Given the description of an element on the screen output the (x, y) to click on. 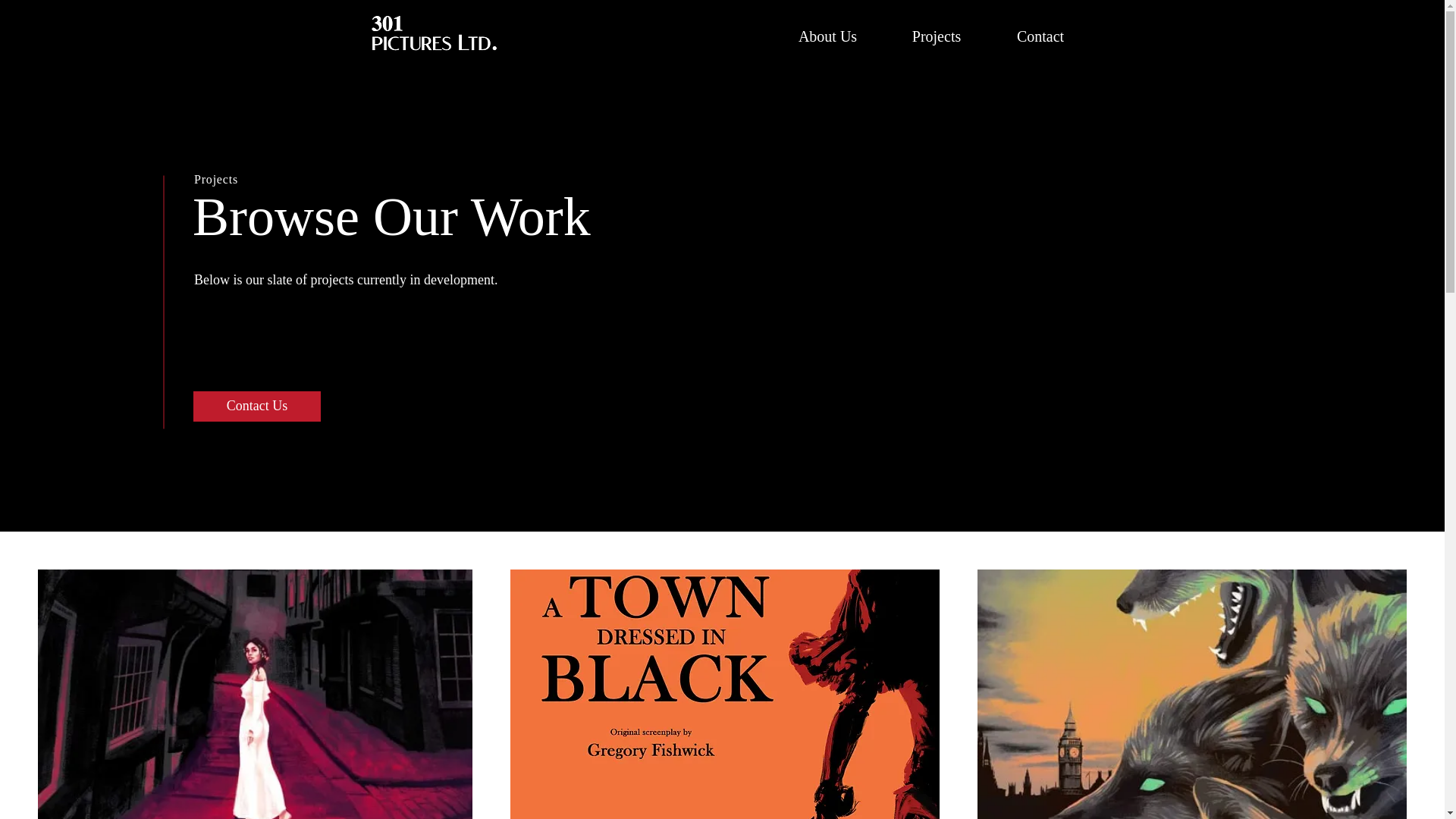
Projects (936, 35)
About Us (827, 35)
Contact (1040, 35)
Contact Us (256, 406)
